Given the description of an element on the screen output the (x, y) to click on. 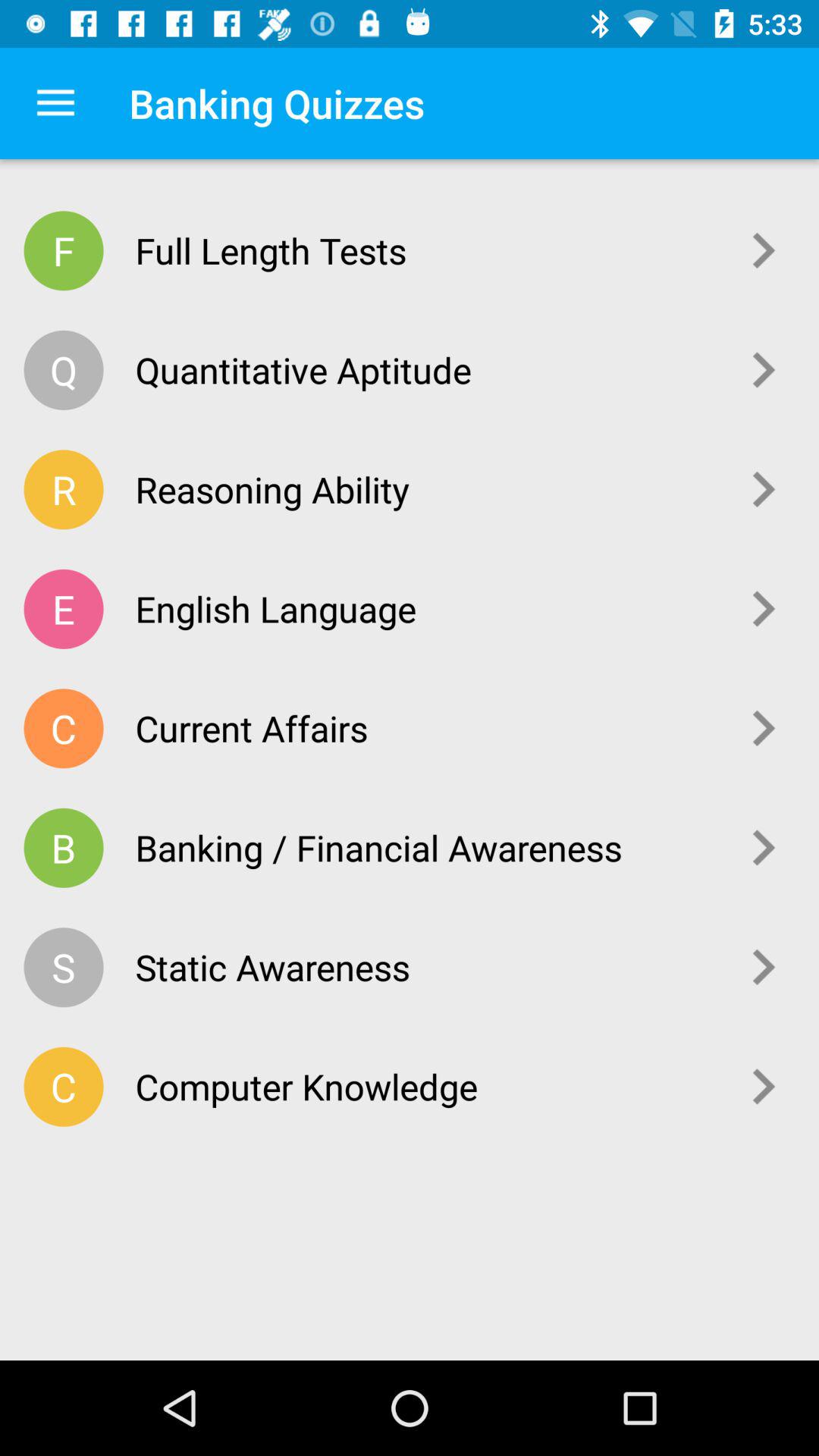
click the icon next to the r item (425, 489)
